Given the description of an element on the screen output the (x, y) to click on. 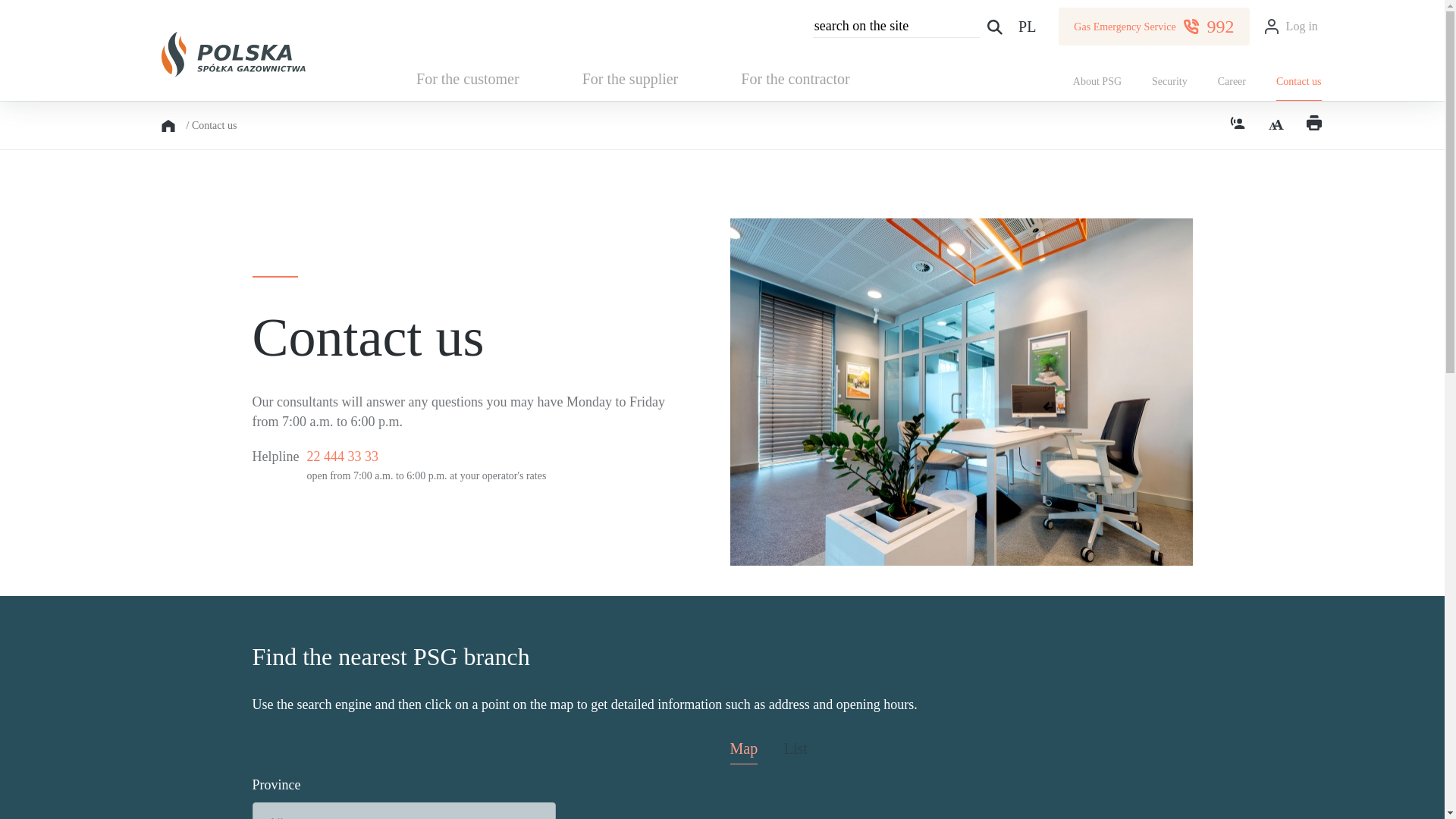
For the supplier (629, 78)
For the customer (467, 78)
For the contractor (795, 78)
